Given the description of an element on the screen output the (x, y) to click on. 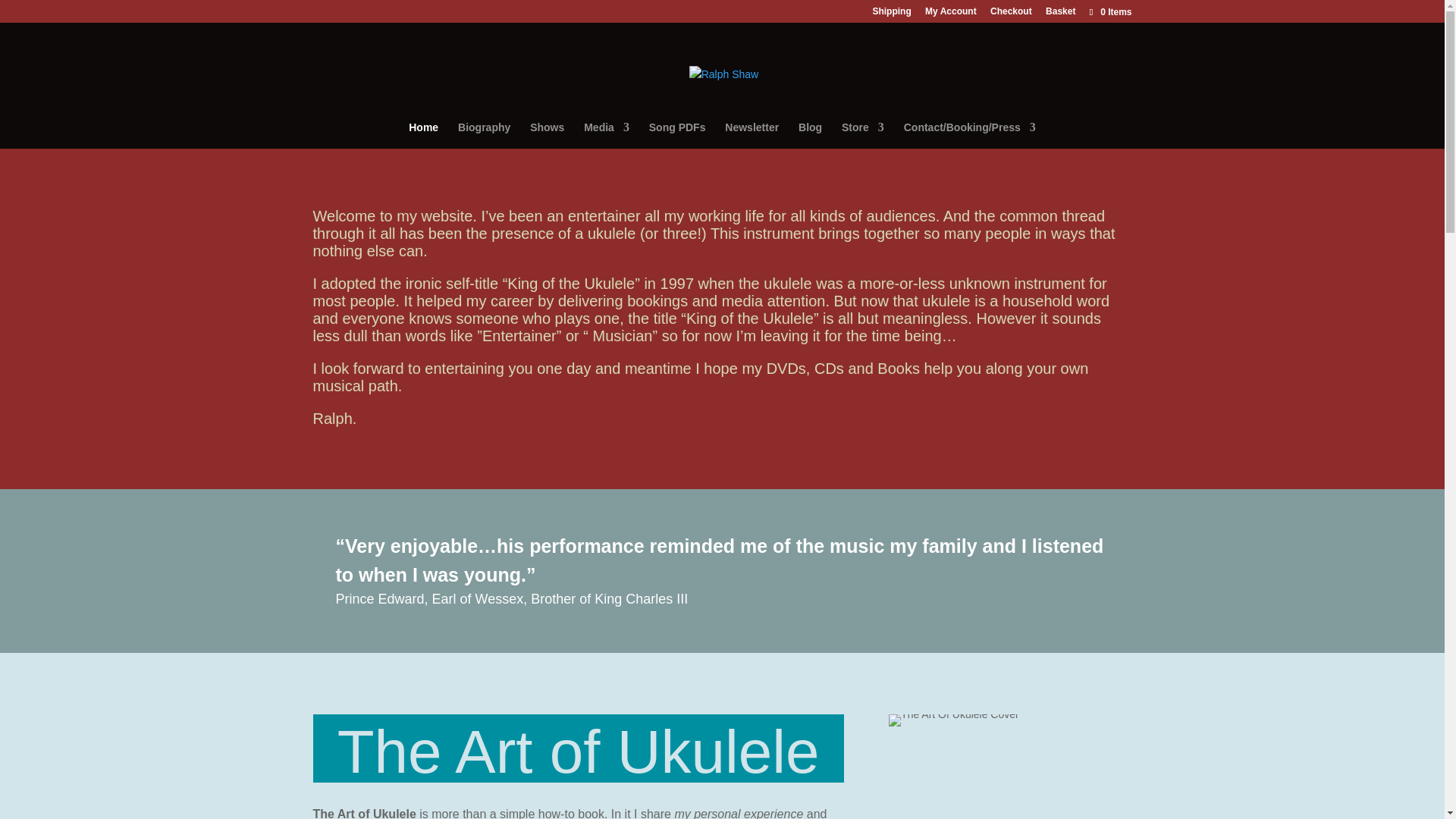
Store (862, 135)
Basket (1060, 14)
Shows (546, 135)
Media (605, 135)
Song PDFs (677, 135)
My Account (950, 14)
0 Items (1108, 11)
Biography (484, 135)
Home (423, 135)
Checkout (1011, 14)
Newsletter (751, 135)
Shipping (891, 14)
